Given the description of an element on the screen output the (x, y) to click on. 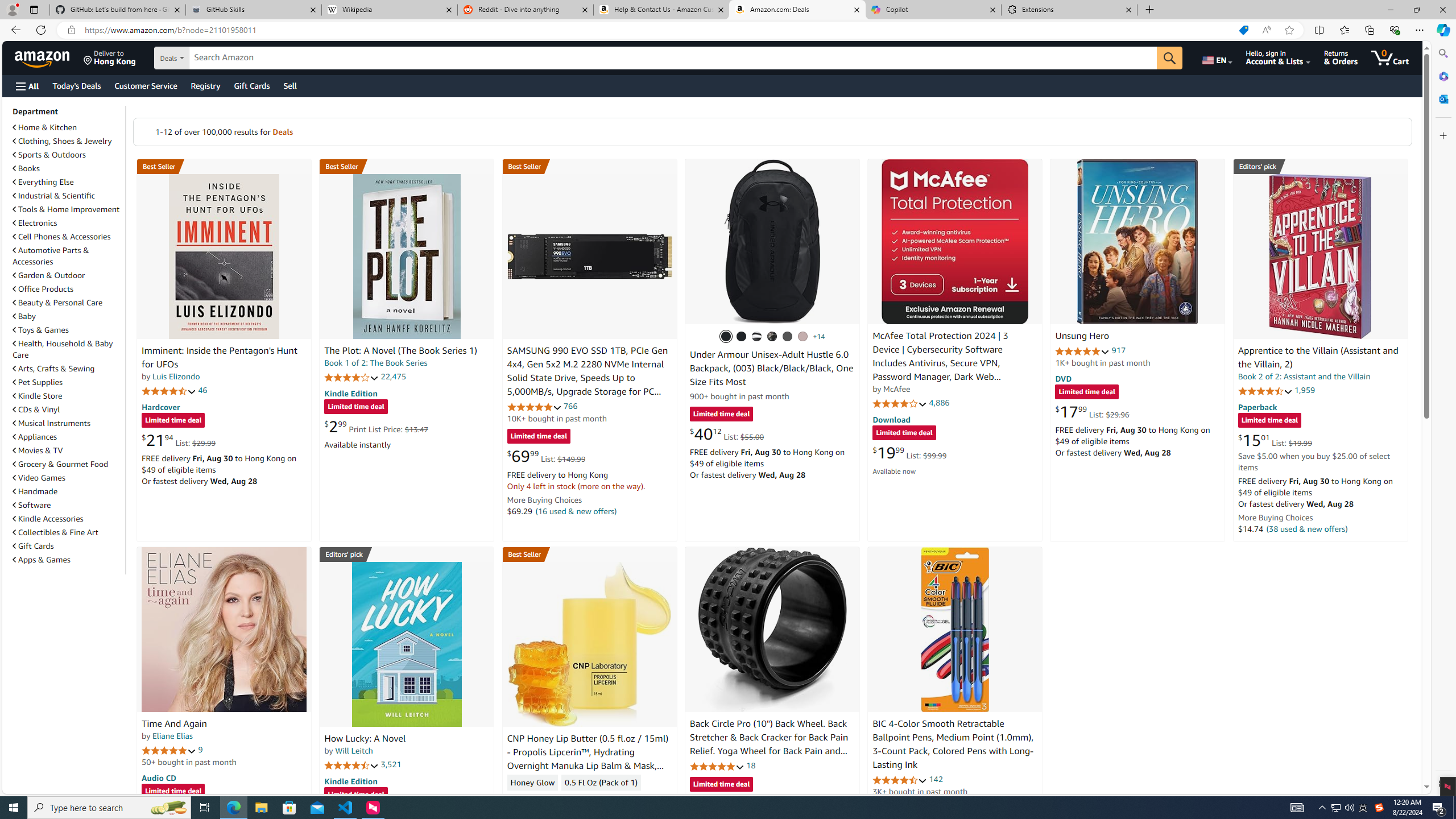
Baby (24, 316)
Split screen (1318, 29)
0 items in cart (1389, 57)
46 (203, 390)
Audio CD (158, 777)
Electronics (34, 222)
How Lucky: A Novel (405, 644)
Limited time deal (721, 784)
Cell Phones & Accessories (61, 236)
(003) Black / Black / Black (725, 336)
Refresh (40, 29)
Kindle Edition (350, 780)
Favorites (1344, 29)
Office Products (67, 288)
Microsoft 365 (1442, 76)
